Given the description of an element on the screen output the (x, y) to click on. 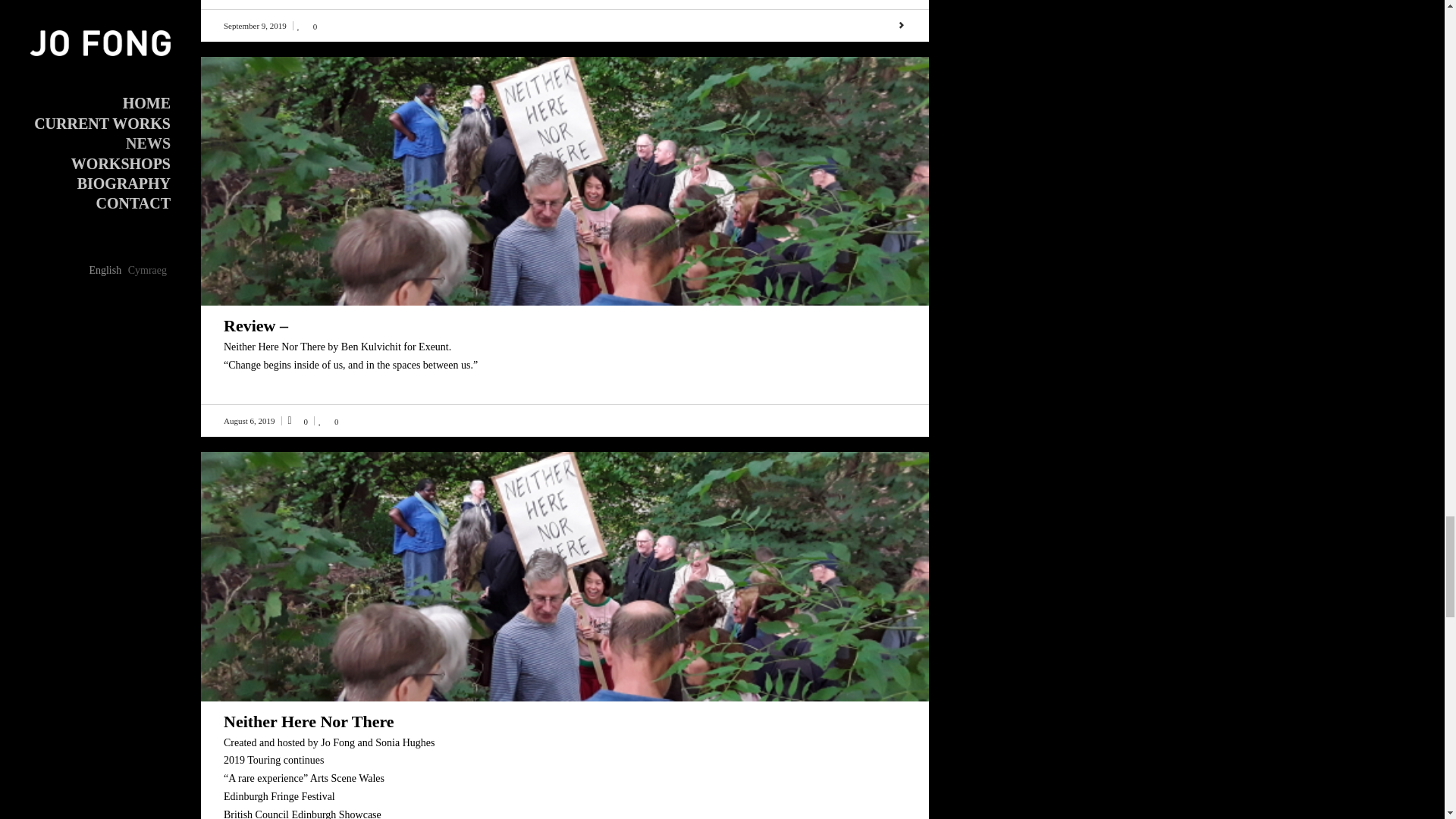
Neither Here Nor There (309, 721)
0 (307, 25)
0 (328, 420)
